Given the description of an element on the screen output the (x, y) to click on. 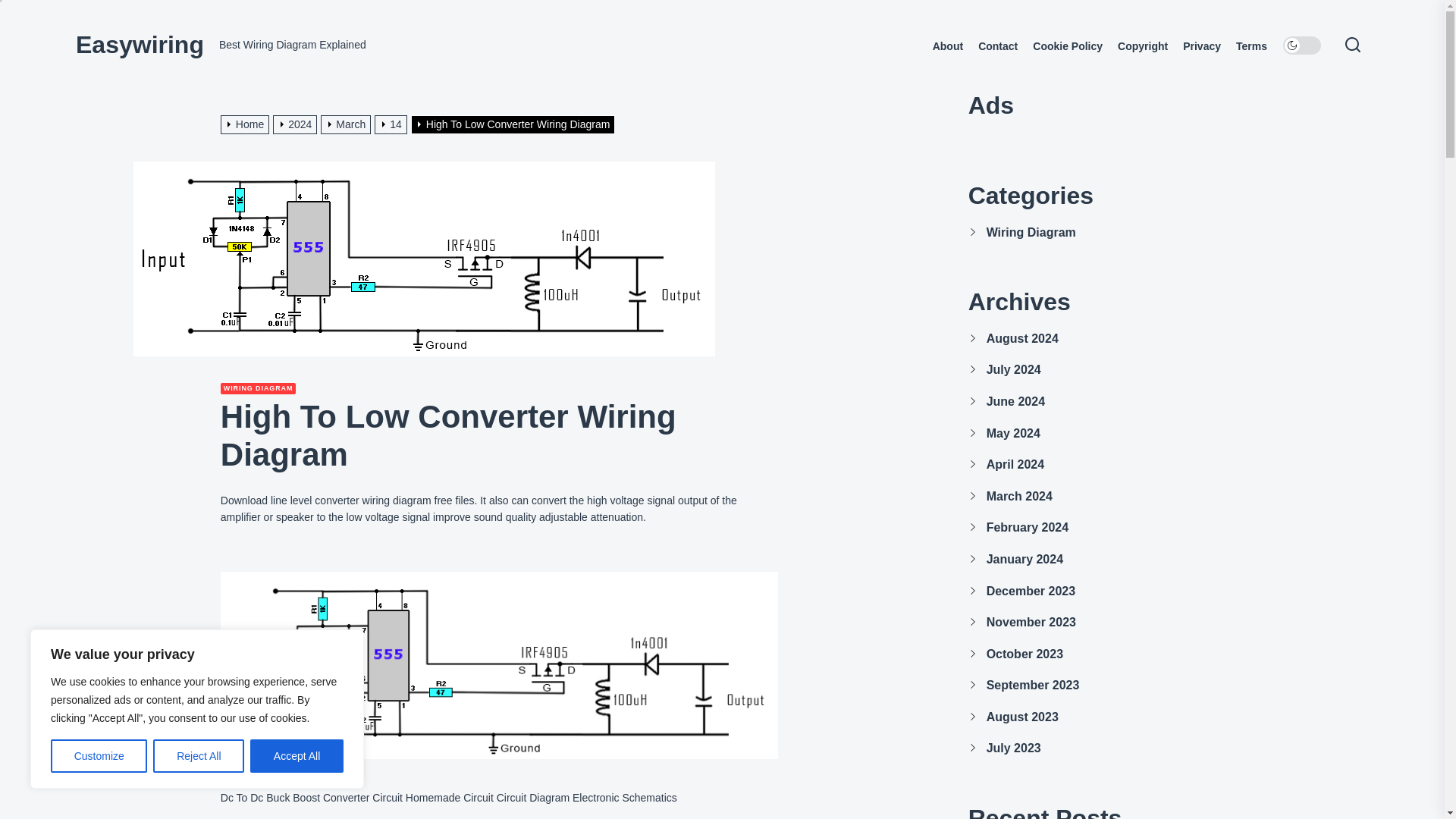
Cookie Policy (1067, 46)
14 (392, 123)
Privacy (1201, 46)
Easywiring (139, 44)
About (947, 46)
WIRING DIAGRAM (259, 388)
2024 (296, 123)
Customize (98, 756)
Terms (1251, 46)
March (347, 123)
